Given the description of an element on the screen output the (x, y) to click on. 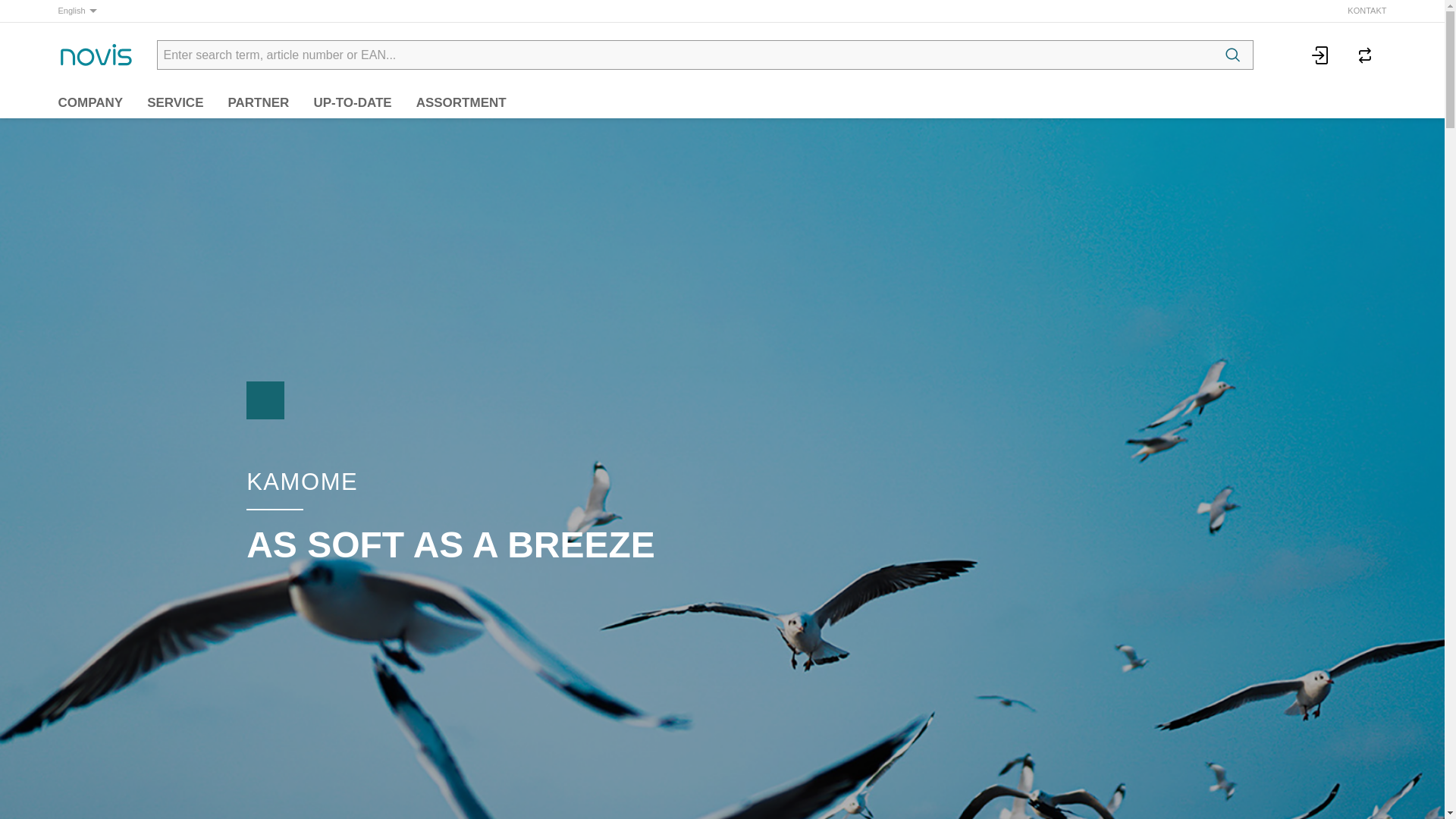
Product comparison (1364, 55)
Login (1320, 55)
